Given the description of an element on the screen output the (x, y) to click on. 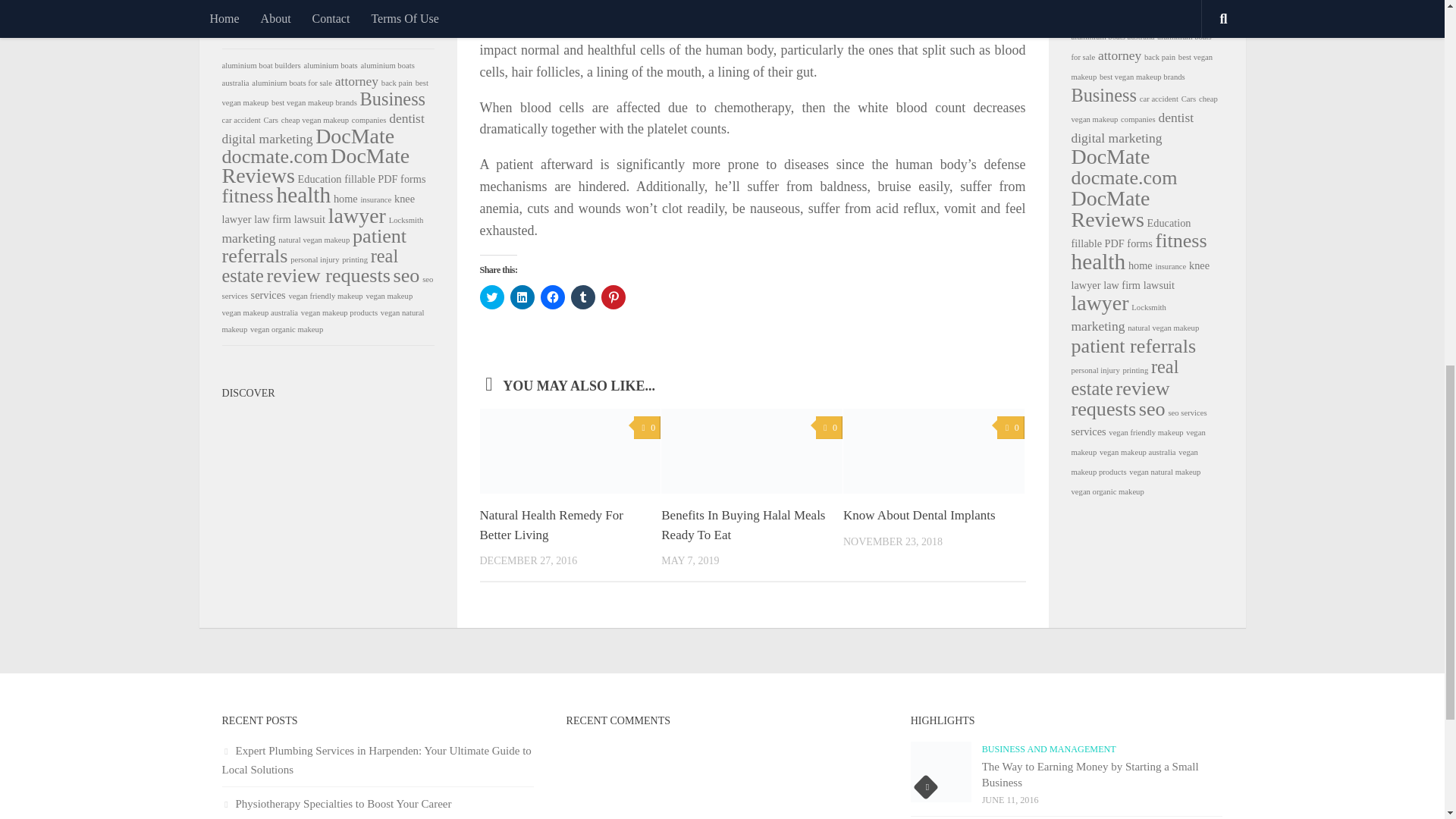
Click to share on Facebook (552, 297)
Natural Health Remedy For Better Living (551, 524)
Click to share on Twitter (491, 297)
Click to share on Tumblr (582, 297)
Click to share on LinkedIn (521, 297)
0 (829, 427)
0 (647, 427)
Click to share on Pinterest (611, 297)
